Given the description of an element on the screen output the (x, y) to click on. 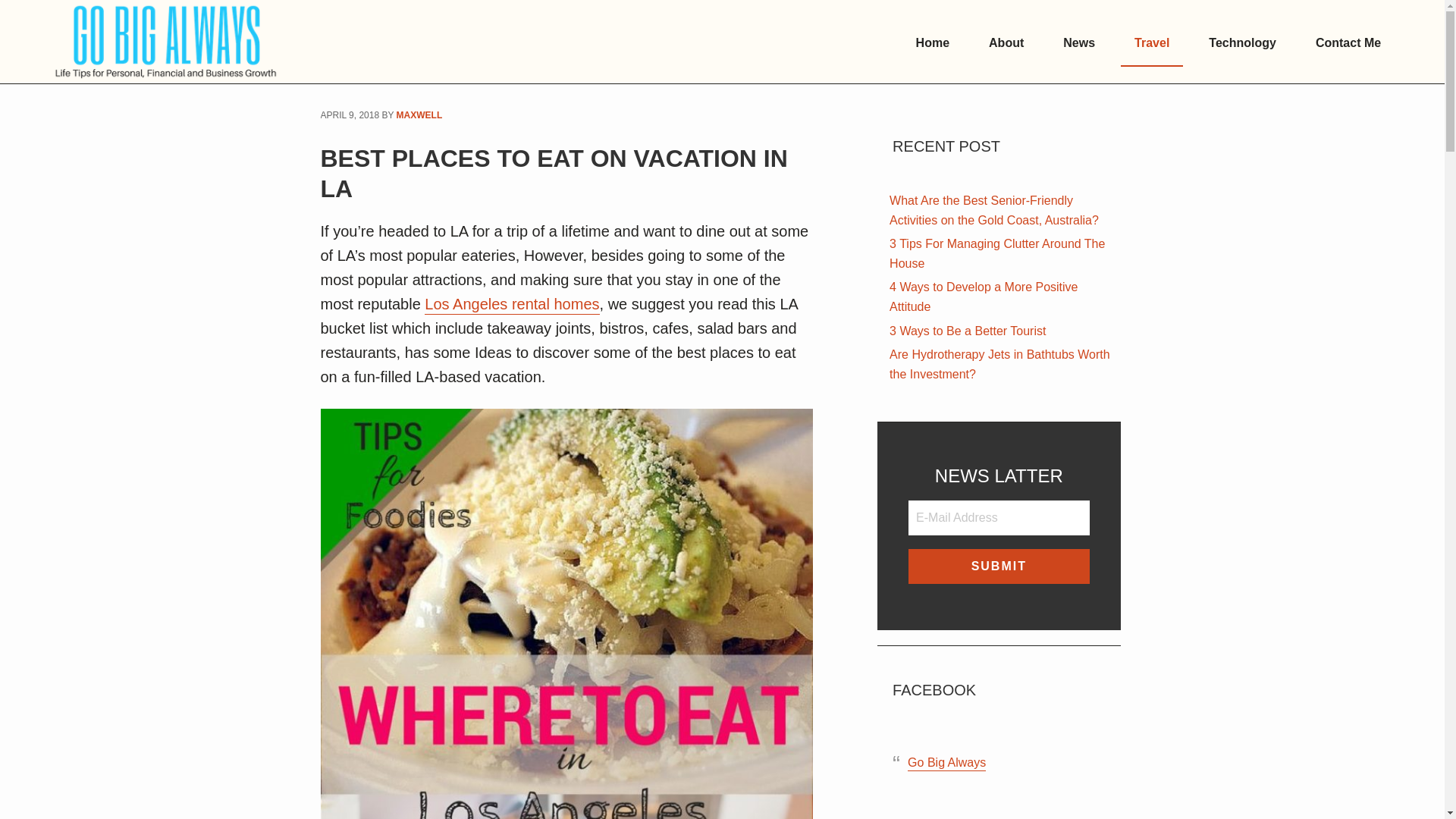
3 Tips For Managing Clutter Around The House (997, 254)
Los Angeles rental homes (511, 304)
News (1078, 43)
About (1005, 43)
3 Ways to Be a Better Tourist (967, 331)
Home (932, 43)
Submit (998, 565)
4 Ways to Develop a More Positive Attitude (983, 297)
Are Hydrotherapy Jets in Bathtubs Worth the Investment? (999, 365)
Submit (998, 565)
Contact Me (1347, 43)
Travel (1151, 43)
Go Big Always (946, 763)
Technology (1242, 43)
